Given the description of an element on the screen output the (x, y) to click on. 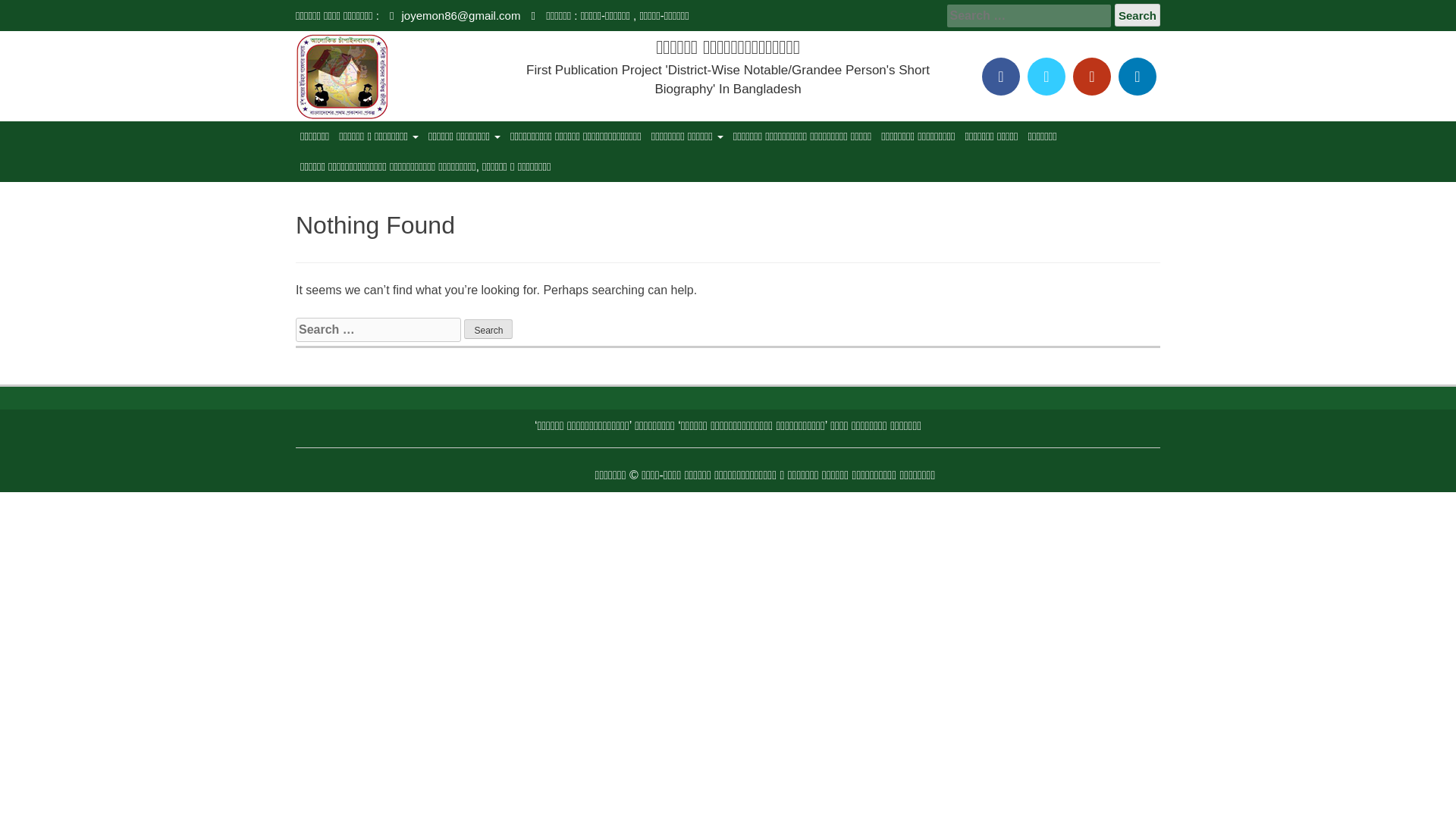
Search (1137, 15)
Search (1137, 15)
Search (1137, 15)
Search (488, 329)
Search (488, 329)
Search (488, 329)
Facebook (1000, 76)
Twitter (1046, 76)
Linkedin (1137, 76)
